Given the description of an element on the screen output the (x, y) to click on. 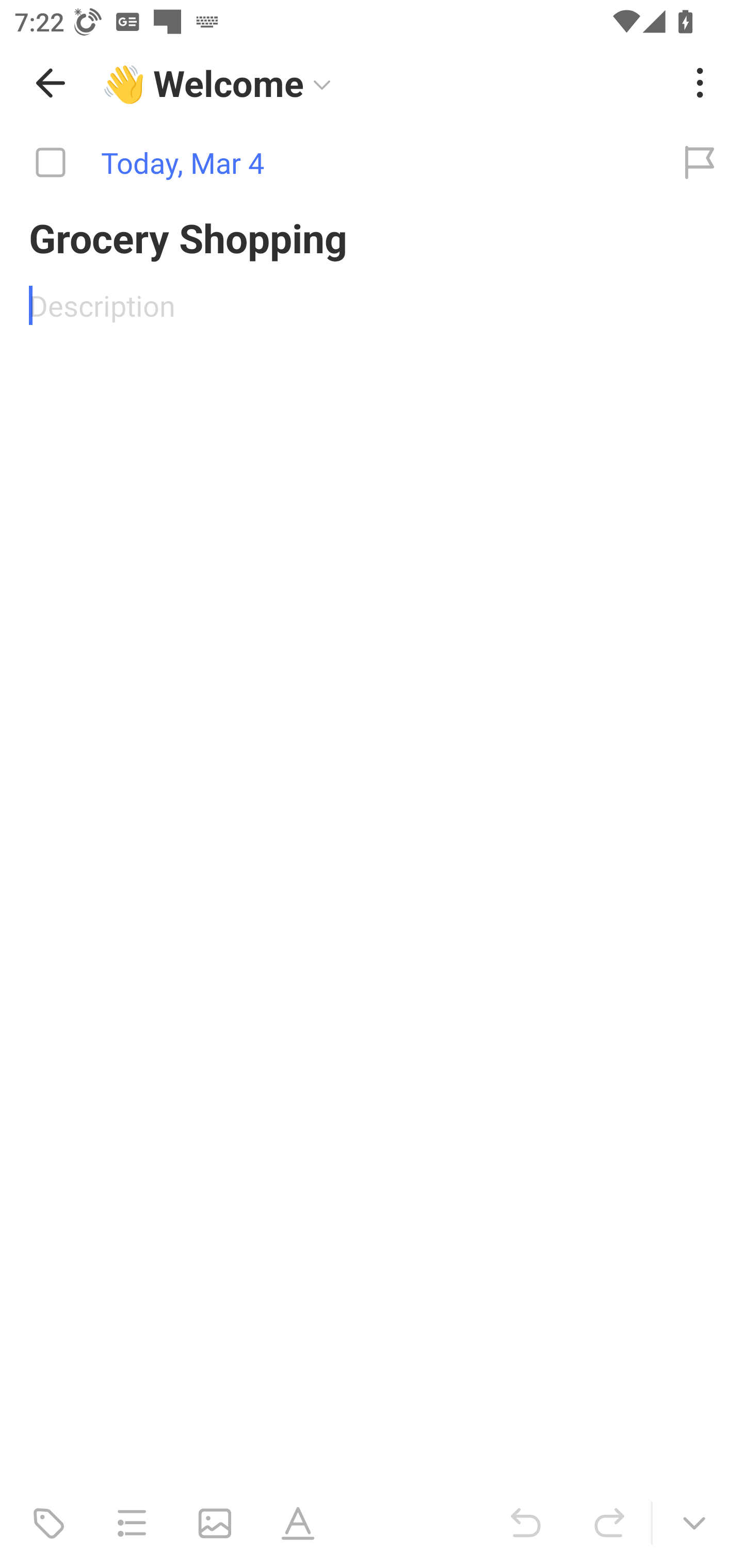
👋 Welcome (384, 82)
Today, Mar 4  (328, 163)
Grocery Shopping (371, 237)
Description (371, 304)
